Given the description of an element on the screen output the (x, y) to click on. 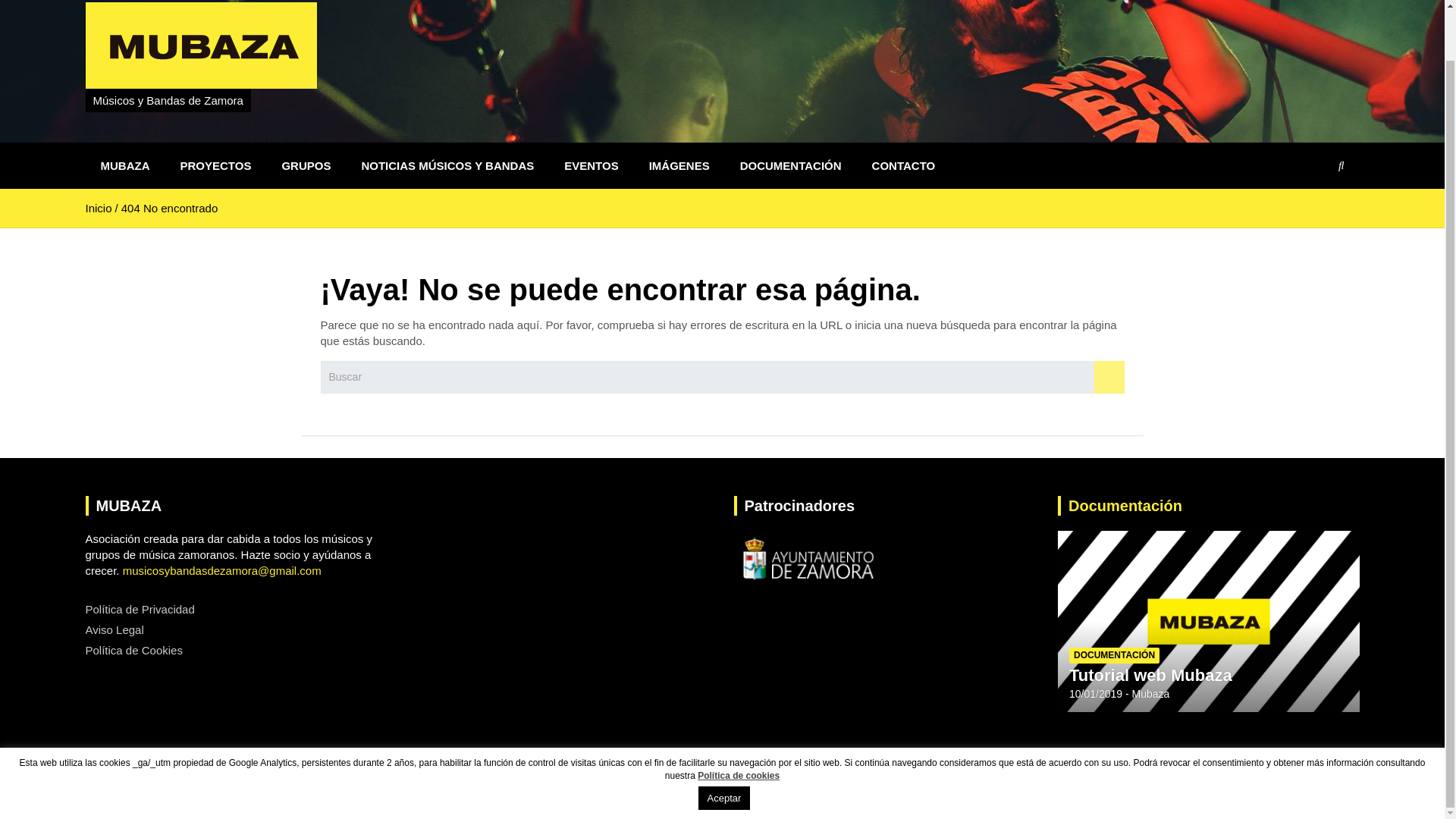
Aceptar (724, 743)
PROYECTOS (215, 165)
Buscar (1108, 377)
MUBAZA (204, 784)
Aviso Legal (113, 629)
MUBAZA (124, 165)
Inicio (98, 207)
Mubaza (1151, 693)
MUBAZA (204, 784)
GRUPOS (306, 165)
Tutorial web Mubaza (1095, 693)
CONTACTO (903, 165)
EVENTOS (590, 165)
Tutorial web Mubaza (1149, 674)
